Given the description of an element on the screen output the (x, y) to click on. 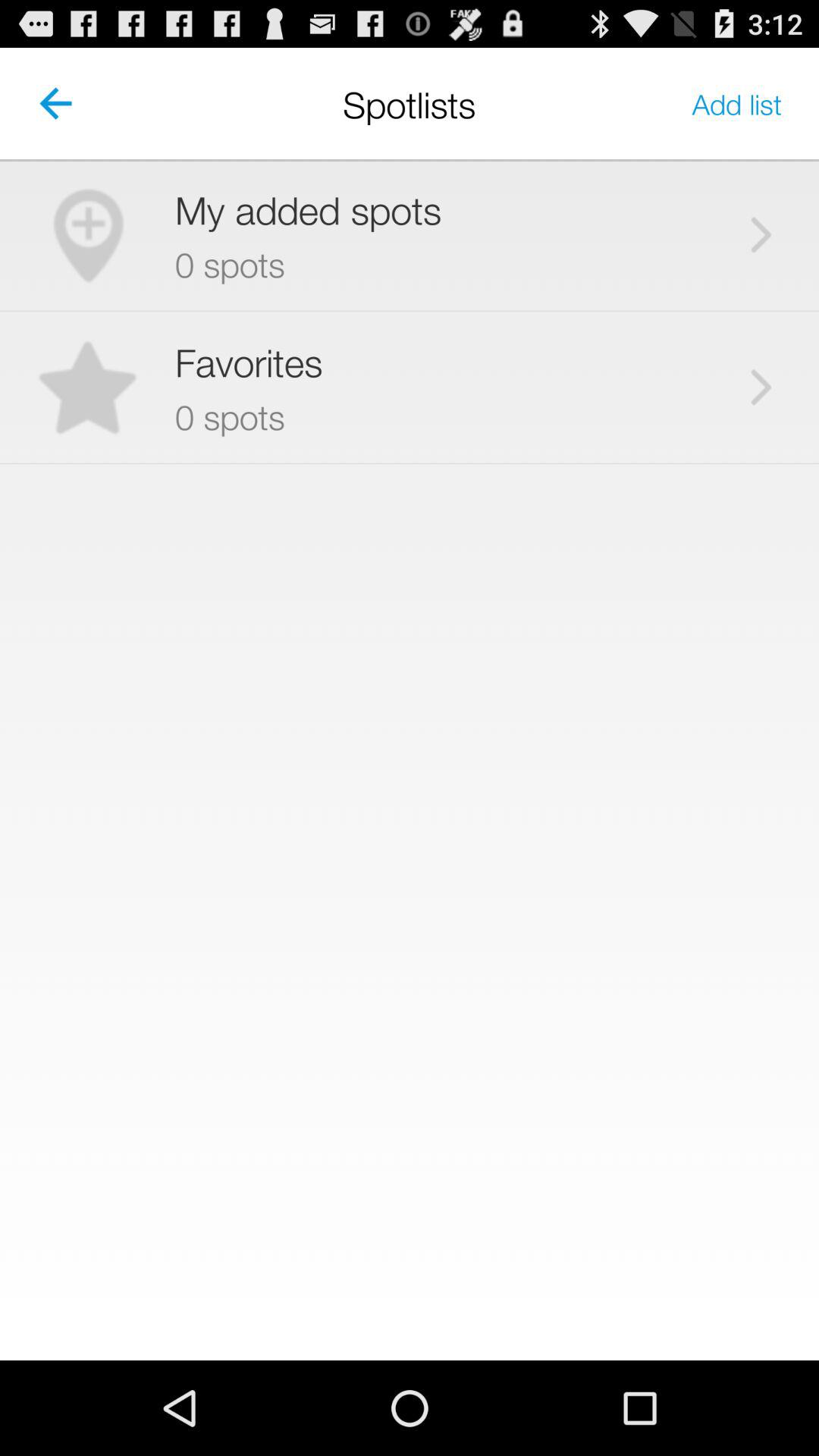
choose the item next to spotlists icon (737, 103)
